Given the description of an element on the screen output the (x, y) to click on. 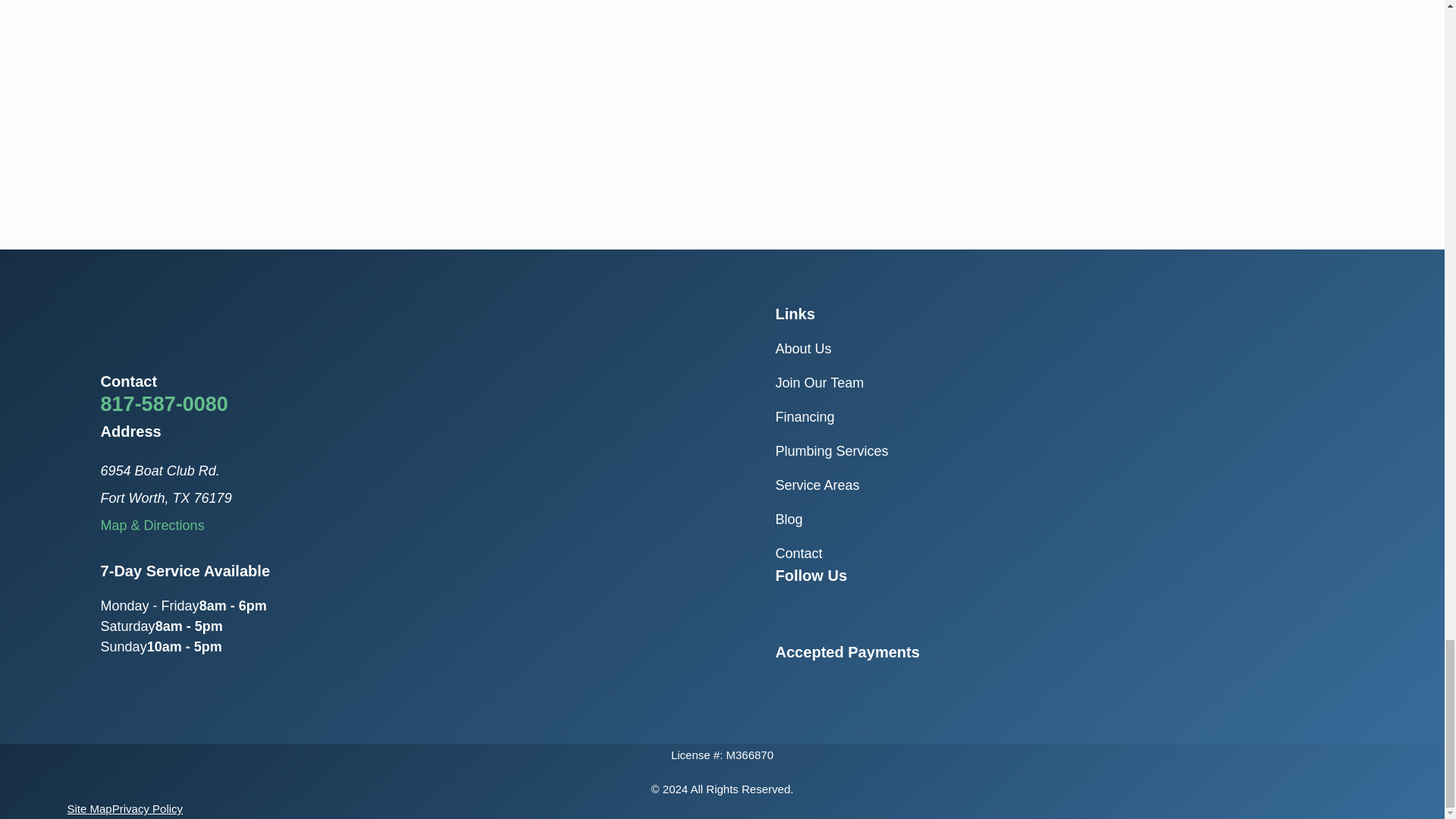
Facebook (785, 609)
Visa (782, 684)
YouTube (824, 609)
Yelp (863, 609)
